Given the description of an element on the screen output the (x, y) to click on. 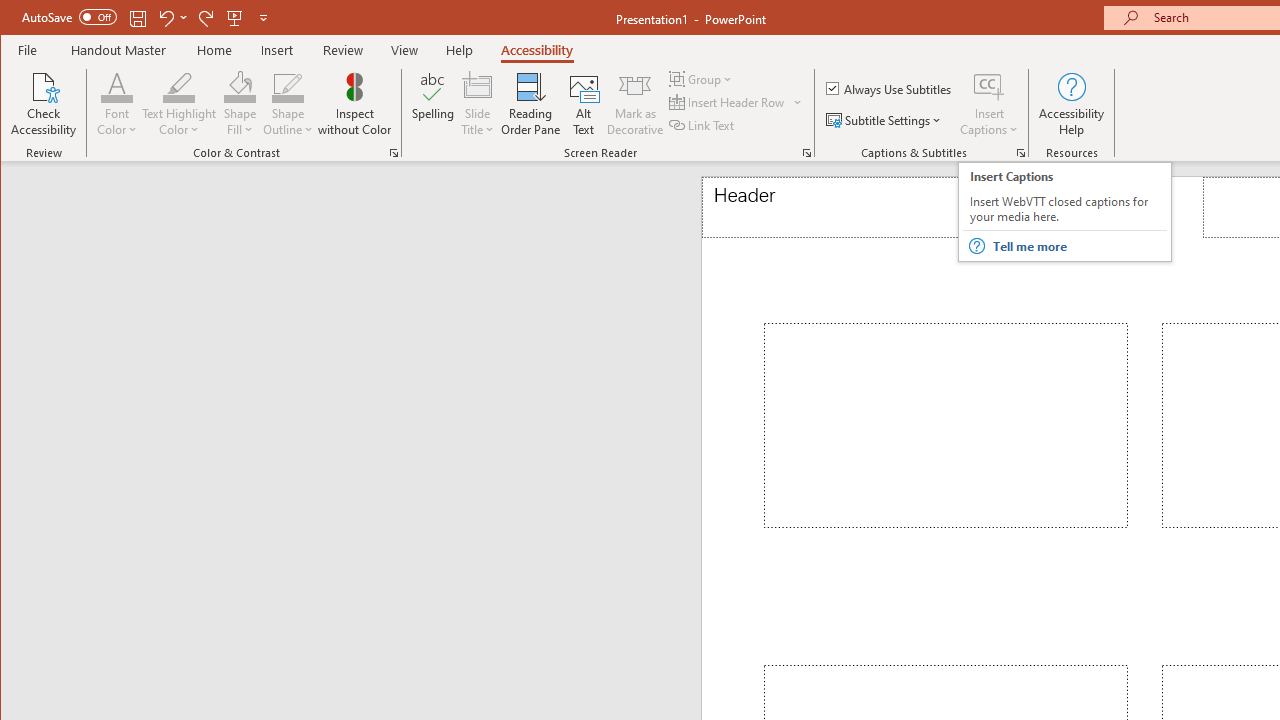
Reading Order Pane (531, 104)
Link Text (703, 124)
Insert Header Row (735, 101)
Slide Title (477, 104)
Handout Master (118, 50)
Inspect without Color (355, 104)
Mark as Decorative (635, 104)
Screen Reader (806, 152)
